Given the description of an element on the screen output the (x, y) to click on. 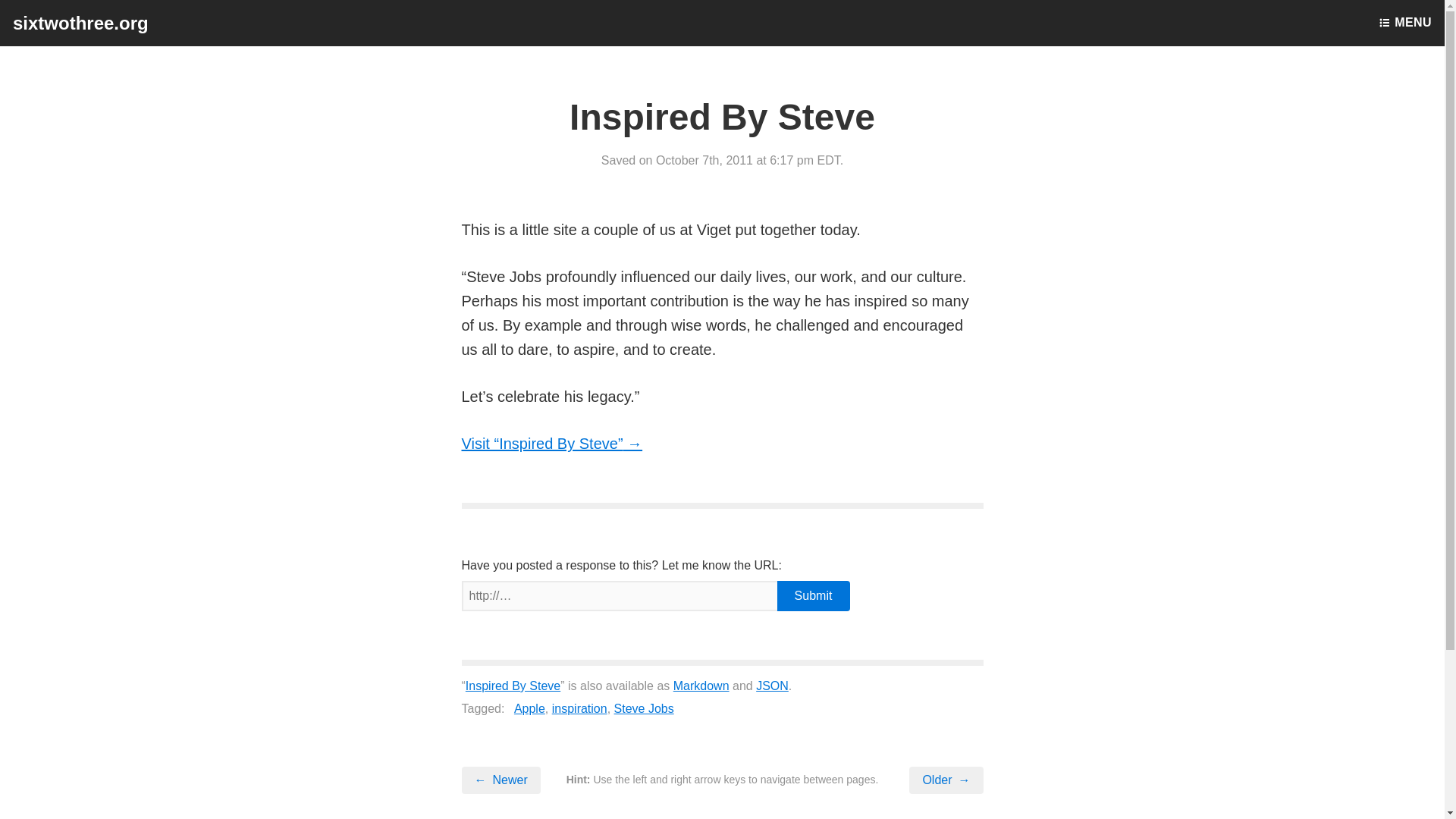
Inspired By Steve (512, 685)
Steve Jobs (644, 707)
Submit (812, 595)
Apple (528, 707)
Markdown (700, 685)
inspiration (579, 707)
Older (945, 779)
JSON (772, 685)
sixtwothree.org (80, 22)
Newer (500, 779)
